Given the description of an element on the screen output the (x, y) to click on. 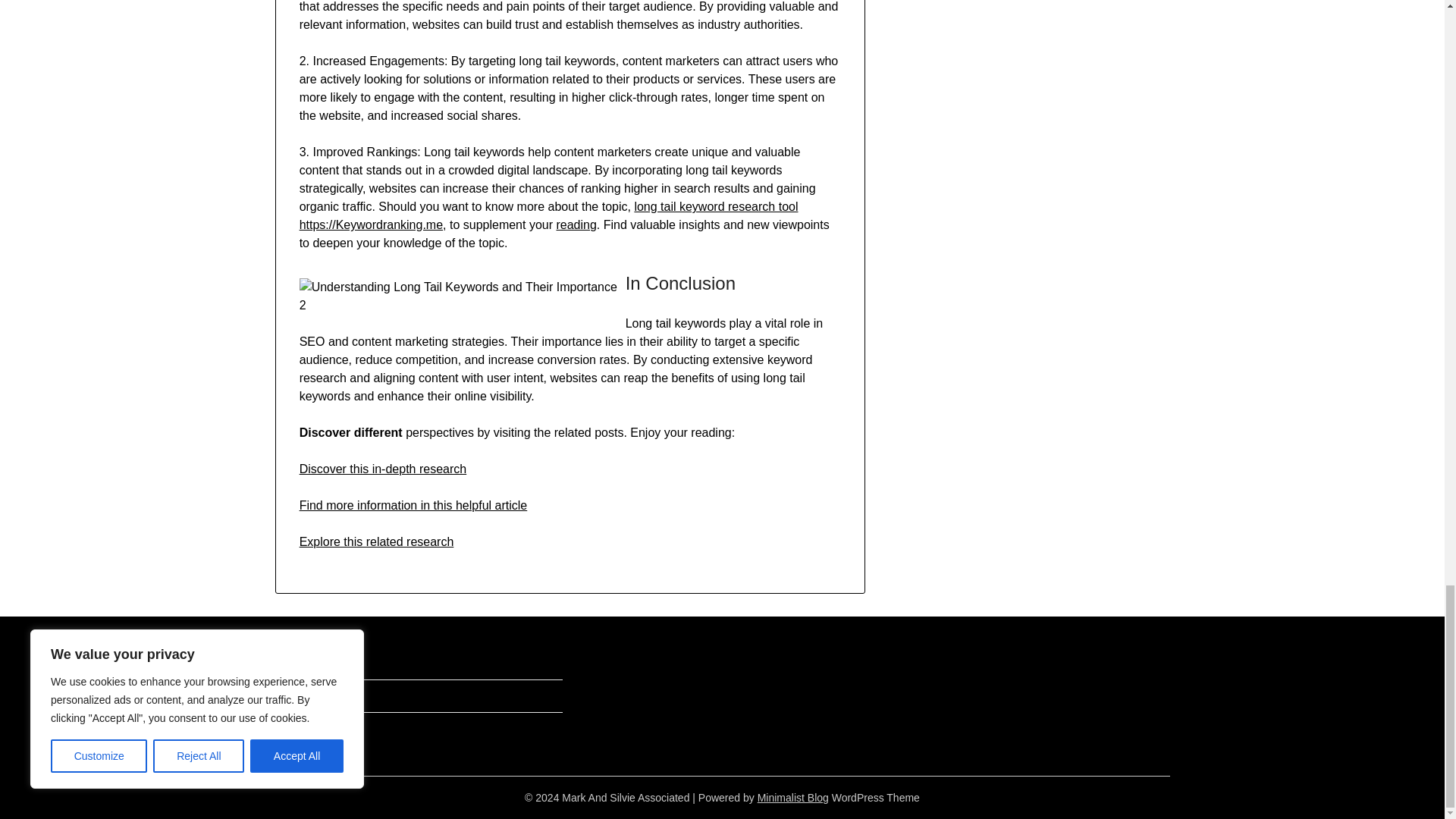
Discover this in-depth research (383, 468)
reading (575, 224)
Explore this related research (376, 541)
Find more information in this helpful article (413, 504)
